Given the description of an element on the screen output the (x, y) to click on. 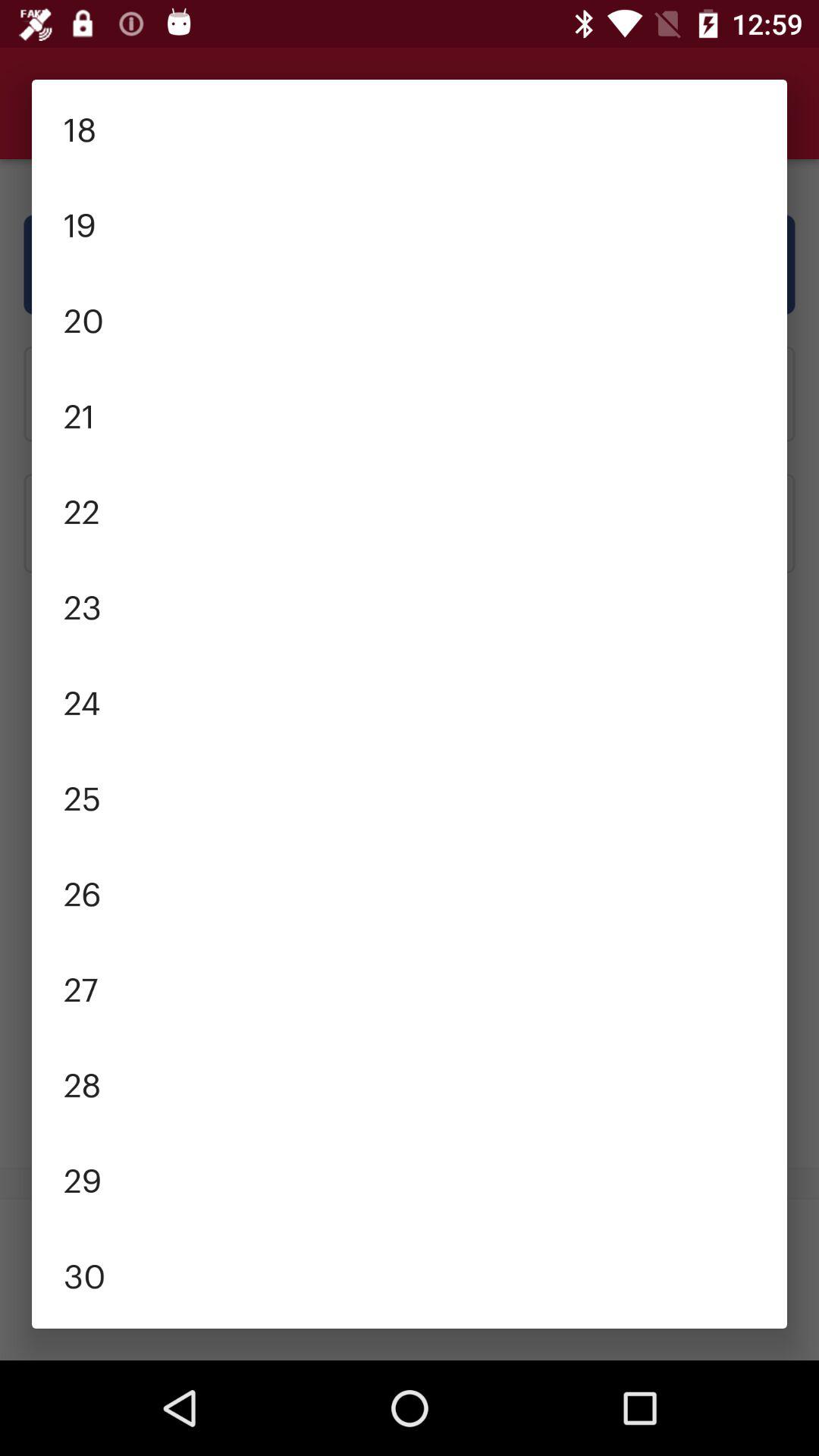
tap the 24 icon (409, 700)
